Given the description of an element on the screen output the (x, y) to click on. 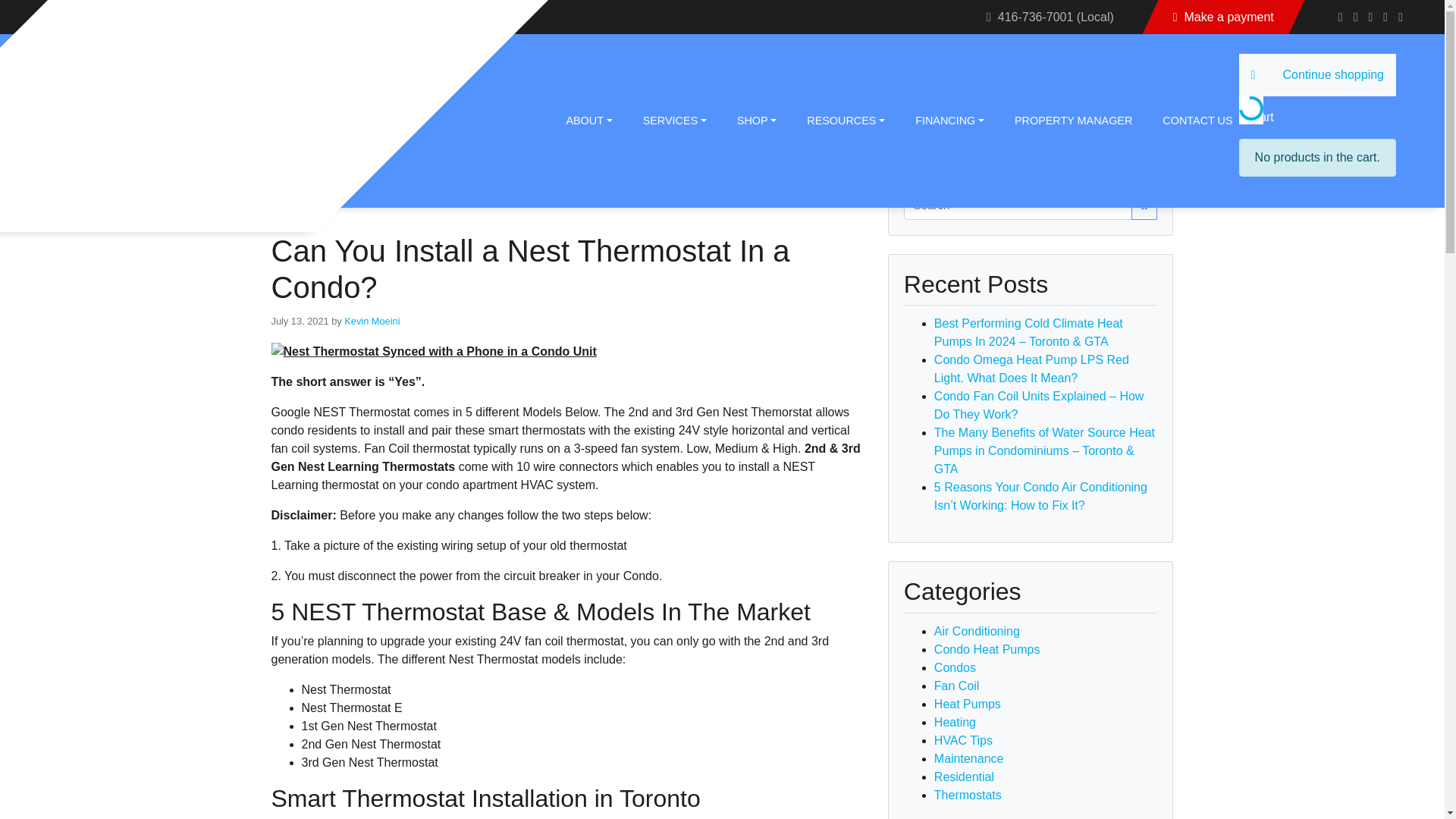
ABOUT (579, 119)
 Make a payment (1223, 16)
Posts by Kevin Moeini (370, 320)
SERVICES (665, 119)
